Given the description of an element on the screen output the (x, y) to click on. 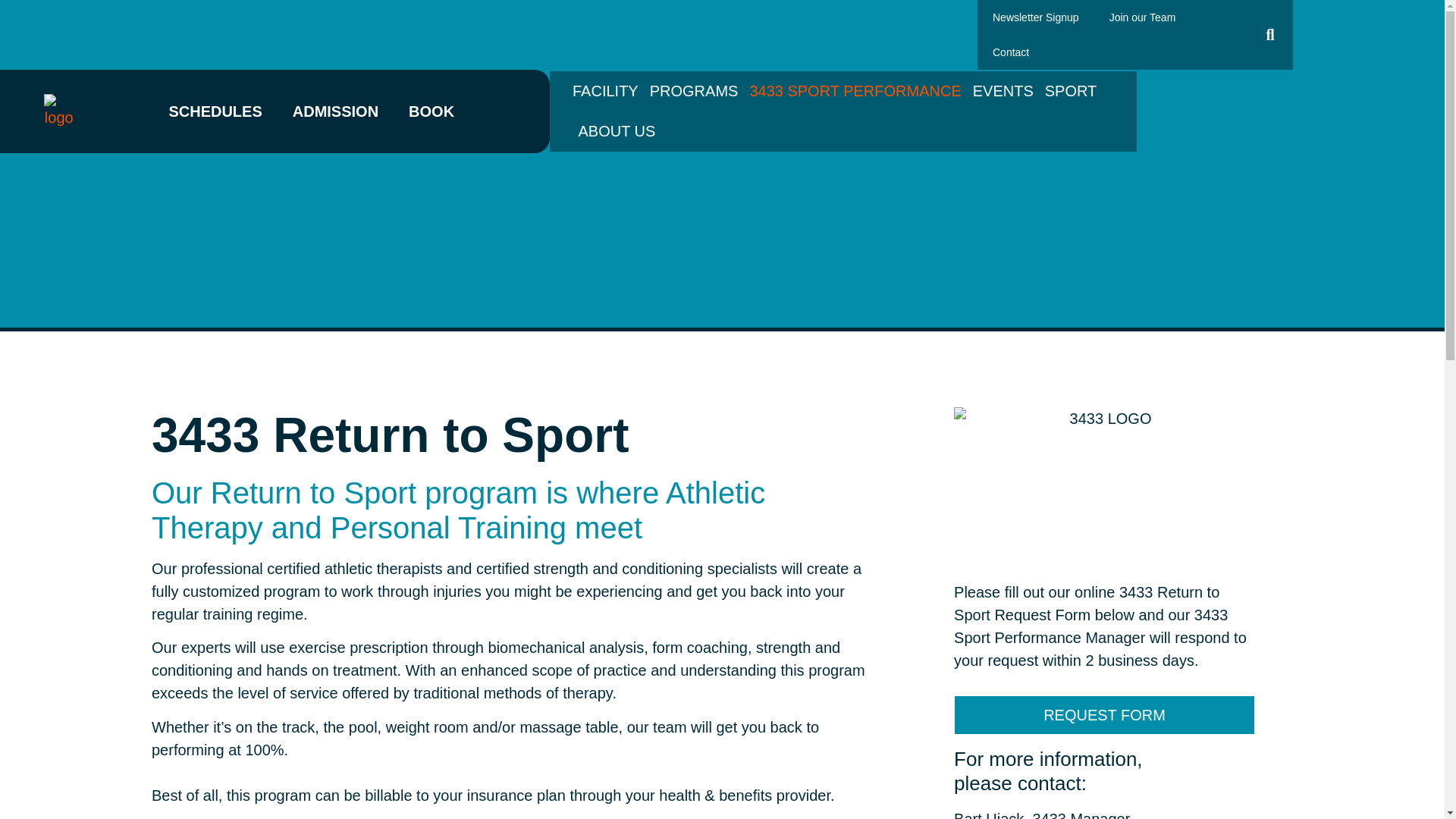
Contact (1009, 52)
SCHEDULES (215, 110)
Newsletter Signup (1035, 17)
Join our Team (1142, 17)
BOOK (431, 110)
ADMISSION (335, 110)
